Given the description of an element on the screen output the (x, y) to click on. 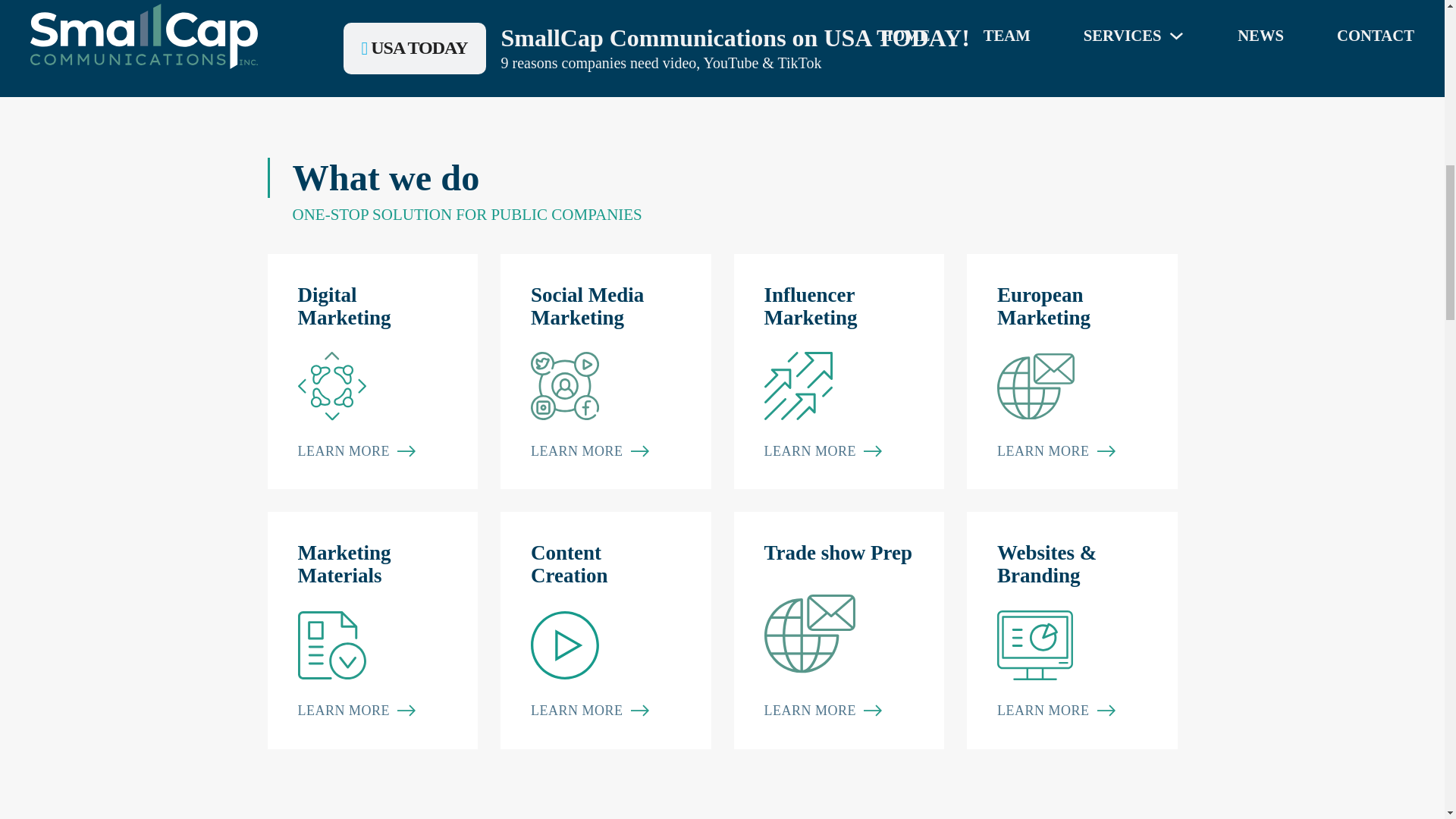
USA TODAY (371, 371)
